Given the description of an element on the screen output the (x, y) to click on. 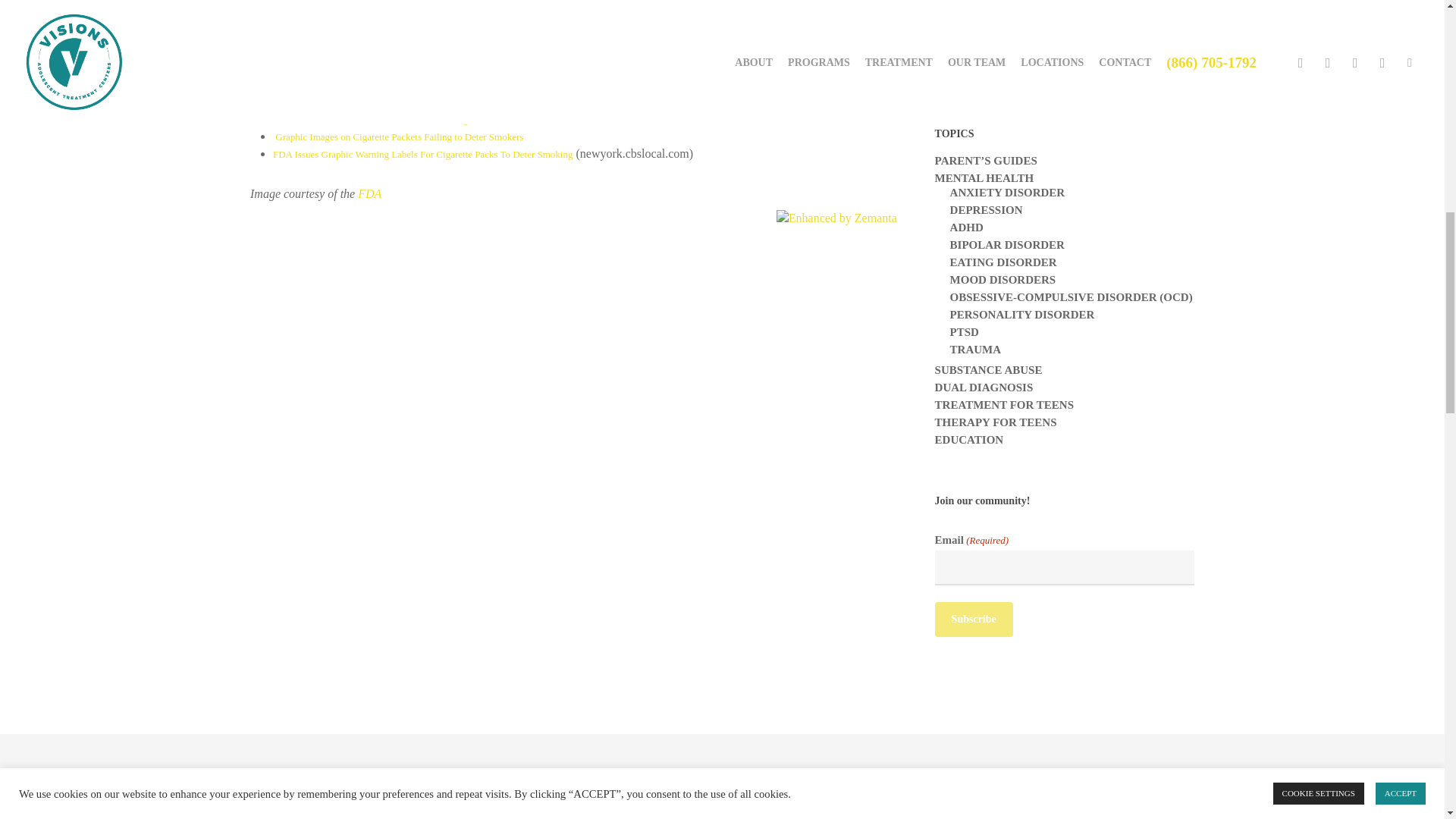
Subscribe (973, 619)
